Given the description of an element on the screen output the (x, y) to click on. 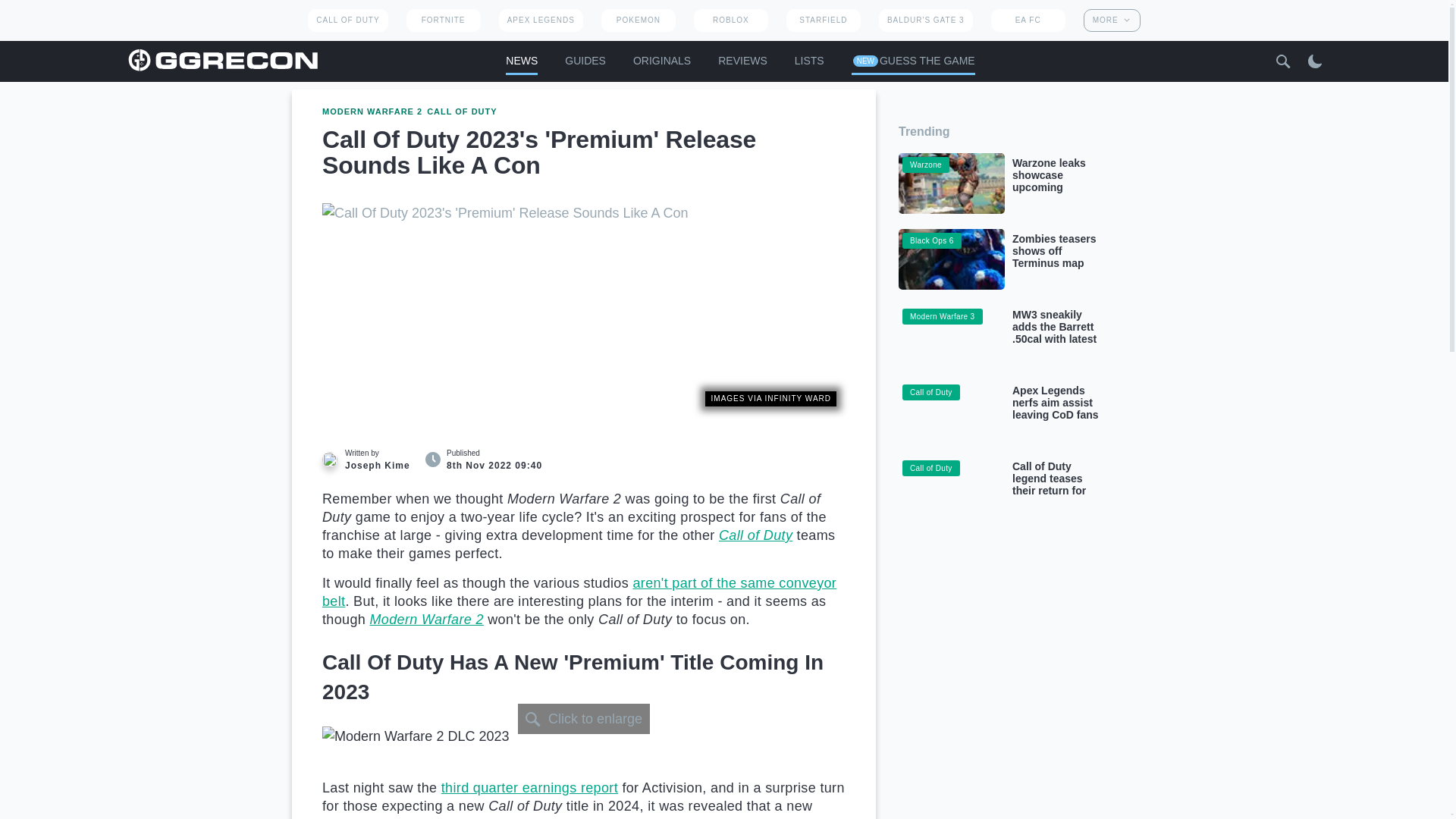
BALDUR'S GATE 3 (925, 20)
STARFIELD (823, 20)
APEX LEGENDS (541, 20)
FORTNITE (443, 20)
POKEMON (638, 20)
ROBLOX (731, 20)
Modern Warfare 2 (426, 619)
CALL OF DUTY (347, 20)
authorlink (369, 459)
EA FC (1028, 20)
